Given the description of an element on the screen output the (x, y) to click on. 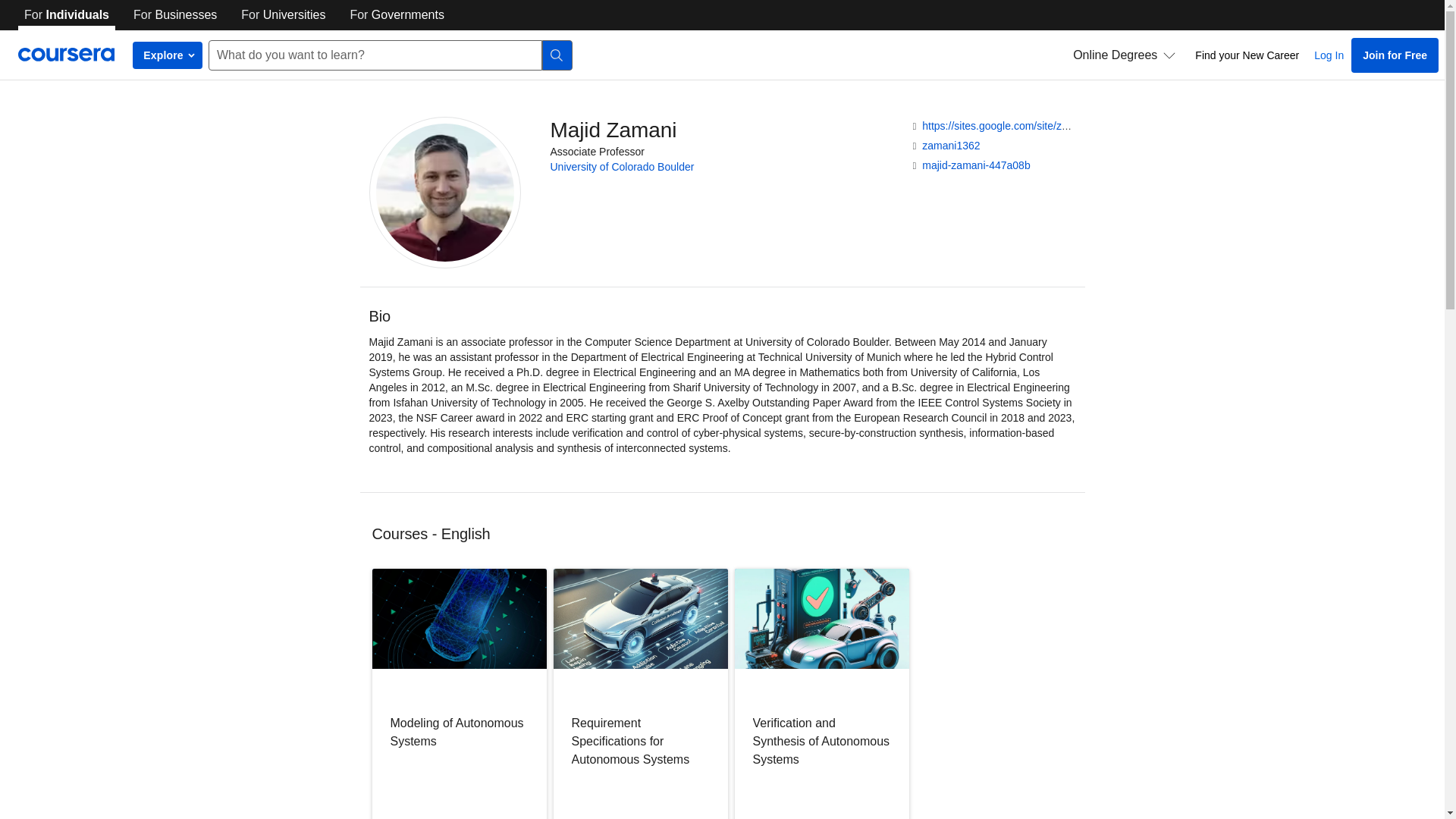
Explore (167, 53)
For Individuals (66, 15)
For Universities (282, 15)
For Businesses (175, 15)
For Governments (396, 15)
